Given the description of an element on the screen output the (x, y) to click on. 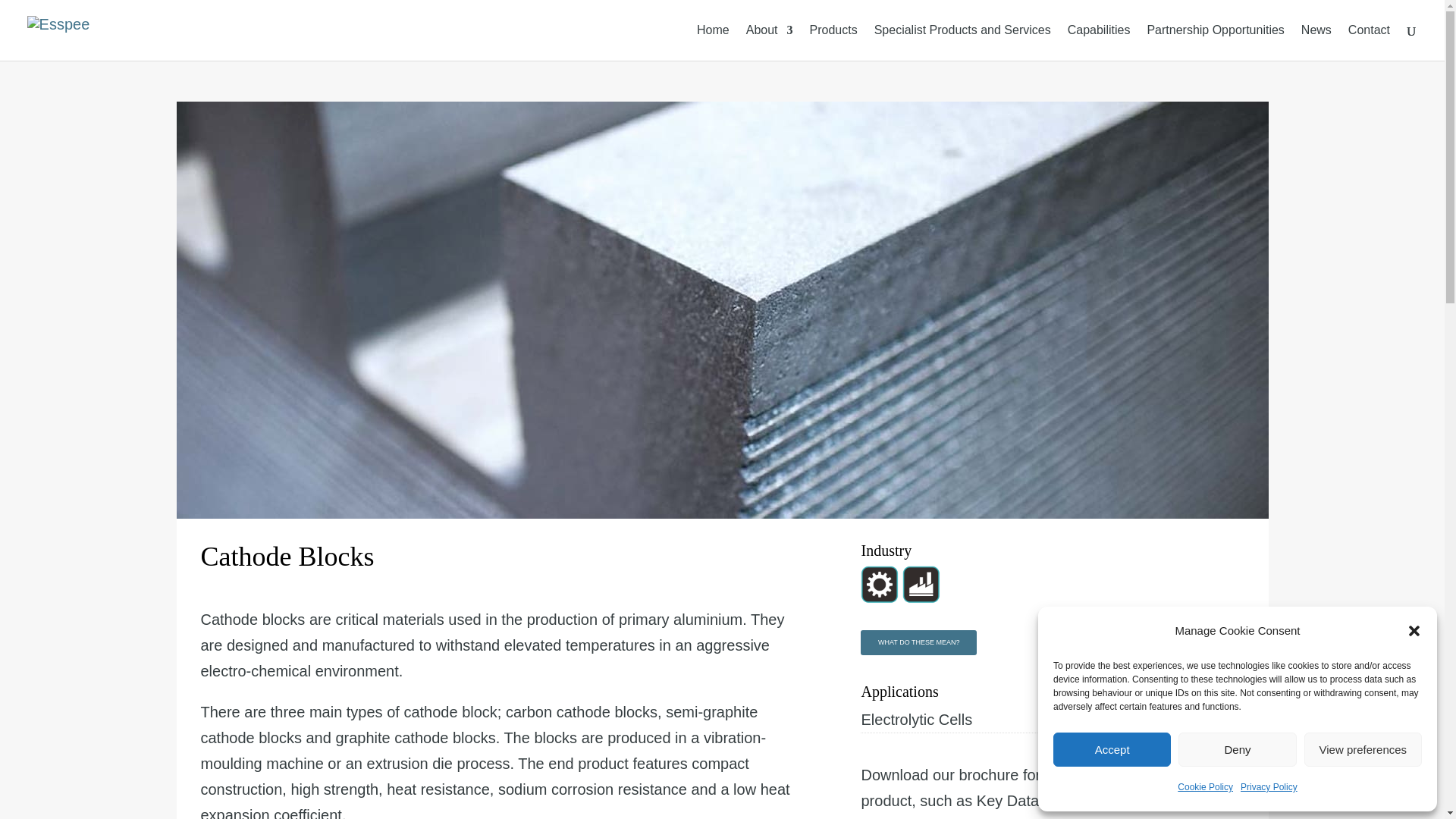
Products (833, 42)
Cookie Policy (1205, 786)
Specialist Products and Services (963, 42)
Deny (1236, 749)
Privacy Policy (1268, 786)
Home (713, 42)
View preferences (1363, 749)
Capabilities (1099, 42)
About (769, 42)
WHAT DO THESE MEAN? (918, 642)
Partnership Opportunities (1215, 42)
Accept (1111, 749)
Contact (1369, 42)
